Given the description of an element on the screen output the (x, y) to click on. 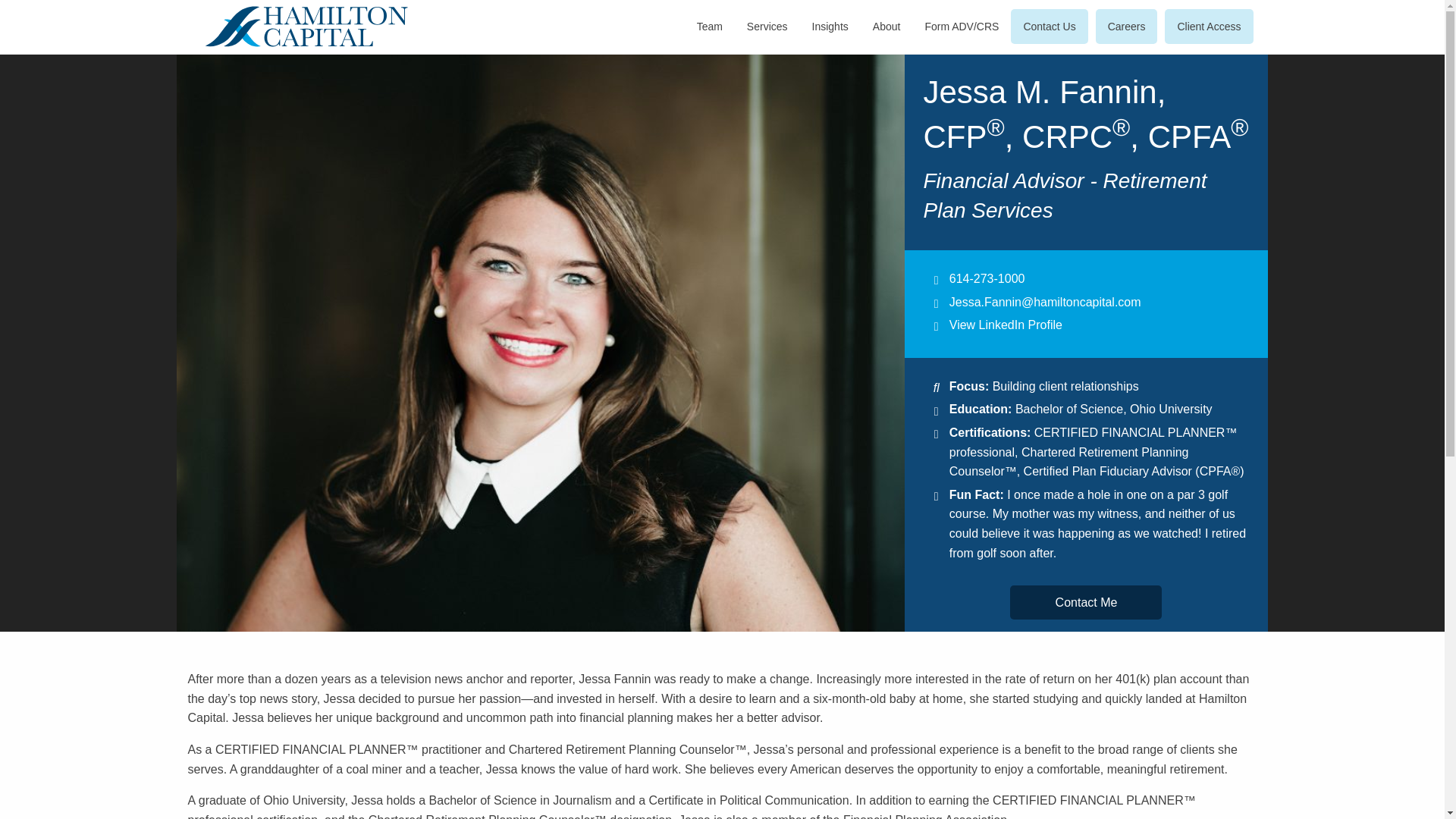
Services (767, 26)
Home (298, 25)
Insights (829, 26)
Our Team (709, 26)
Careers (1126, 26)
About (886, 26)
Services (767, 26)
Contact Us (1048, 26)
Team (709, 26)
Insights (829, 26)
